Given the description of an element on the screen output the (x, y) to click on. 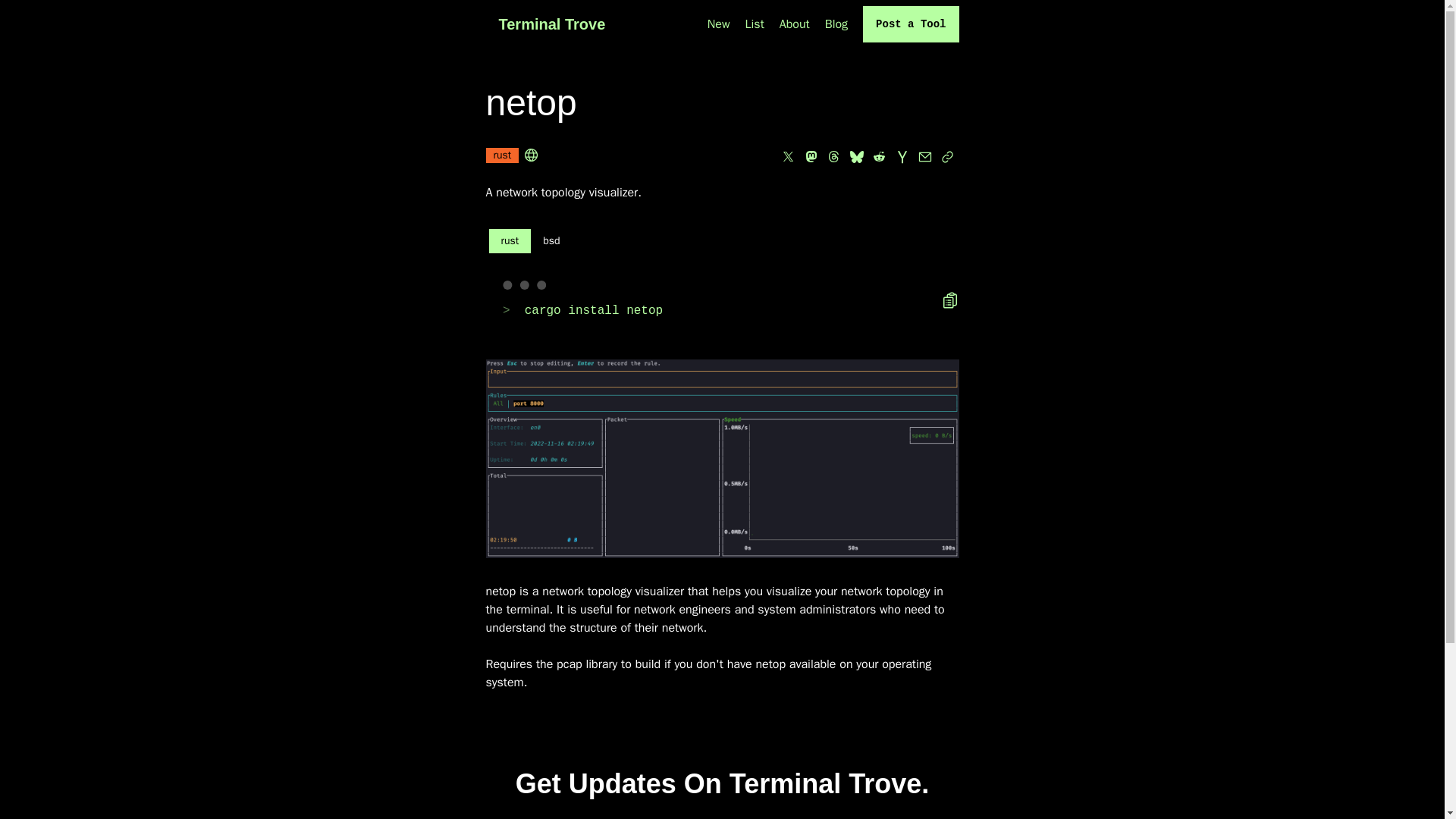
About (793, 24)
SHARE (856, 393)
About (793, 24)
share this page on mastodon (810, 156)
bsd (551, 241)
rust (501, 156)
share this page on reddit (878, 156)
Terminal Trove (550, 23)
List (754, 24)
Blog (836, 24)
